Given the description of an element on the screen output the (x, y) to click on. 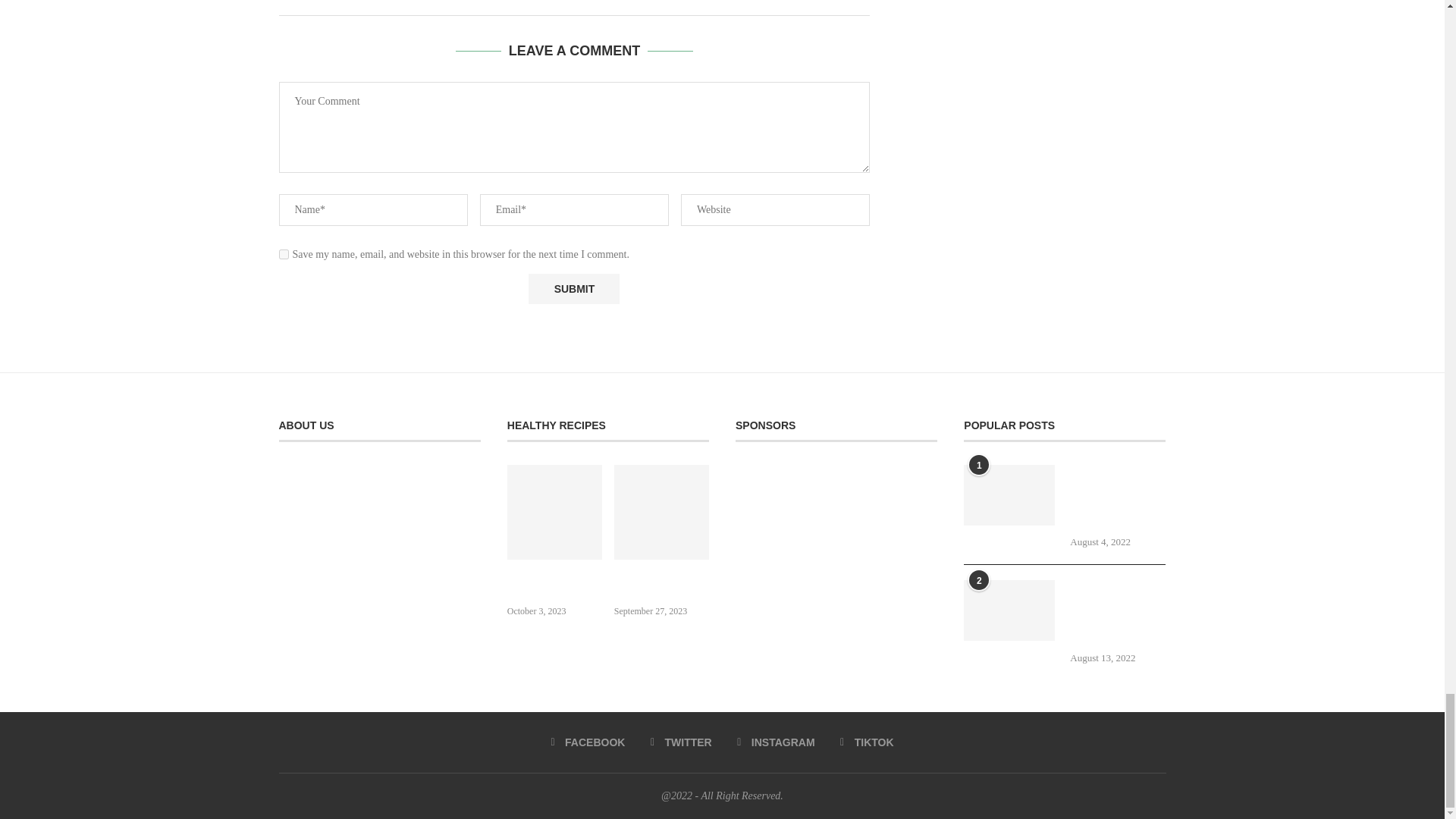
yes (283, 254)
Submit (574, 288)
